Given the description of an element on the screen output the (x, y) to click on. 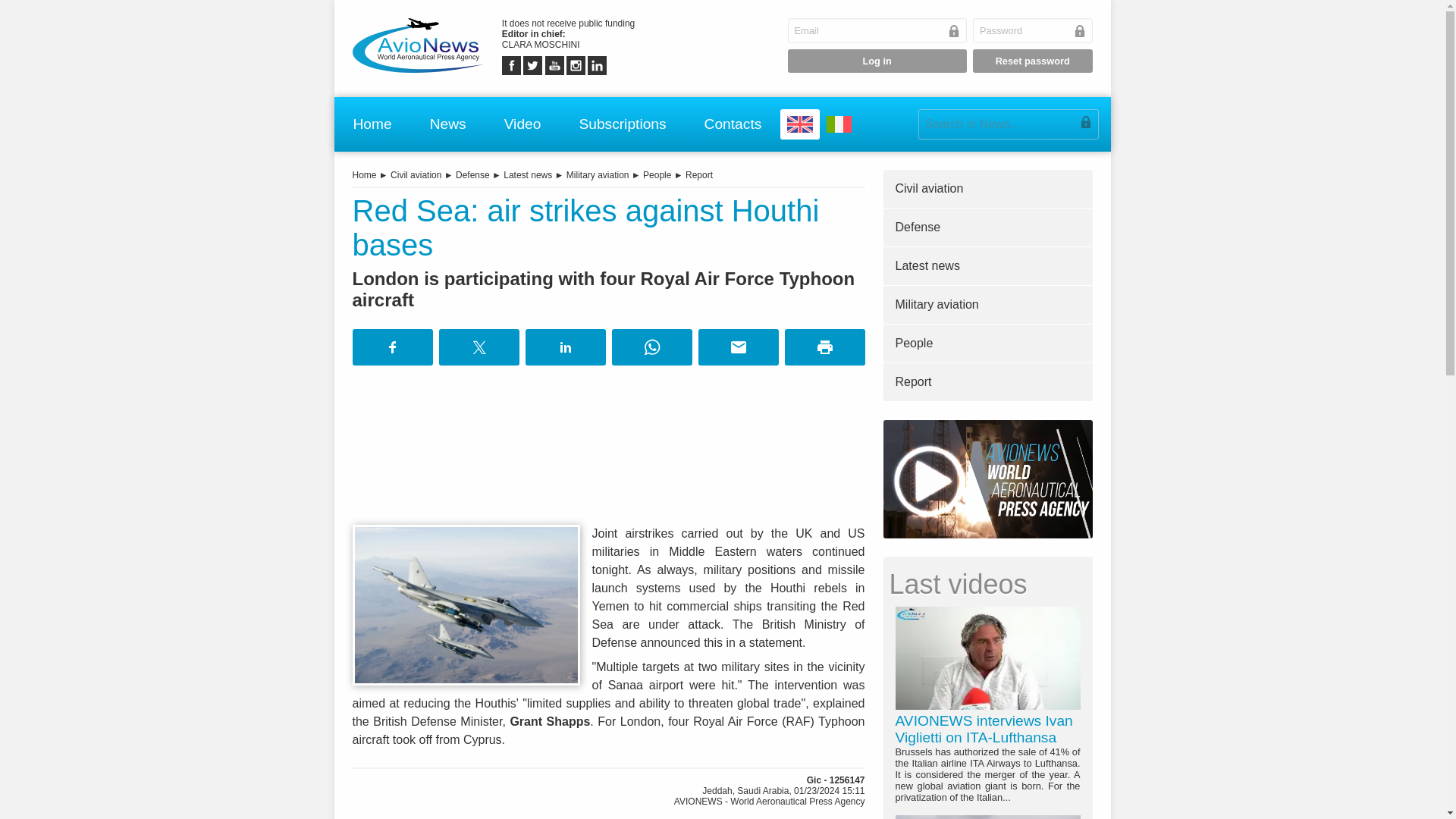
Video (522, 123)
Visit our Instagram page (575, 65)
Log in (876, 60)
Visit our Facebook page (511, 65)
Subscriptions (622, 123)
Advertisement (608, 447)
Home (371, 123)
Log in (876, 60)
English (799, 124)
News (448, 123)
Visit our Youtube channel (554, 65)
Reset password (1032, 60)
Visit our LinkedIn page (597, 65)
Visit our Twitter page (531, 65)
